Given the description of an element on the screen output the (x, y) to click on. 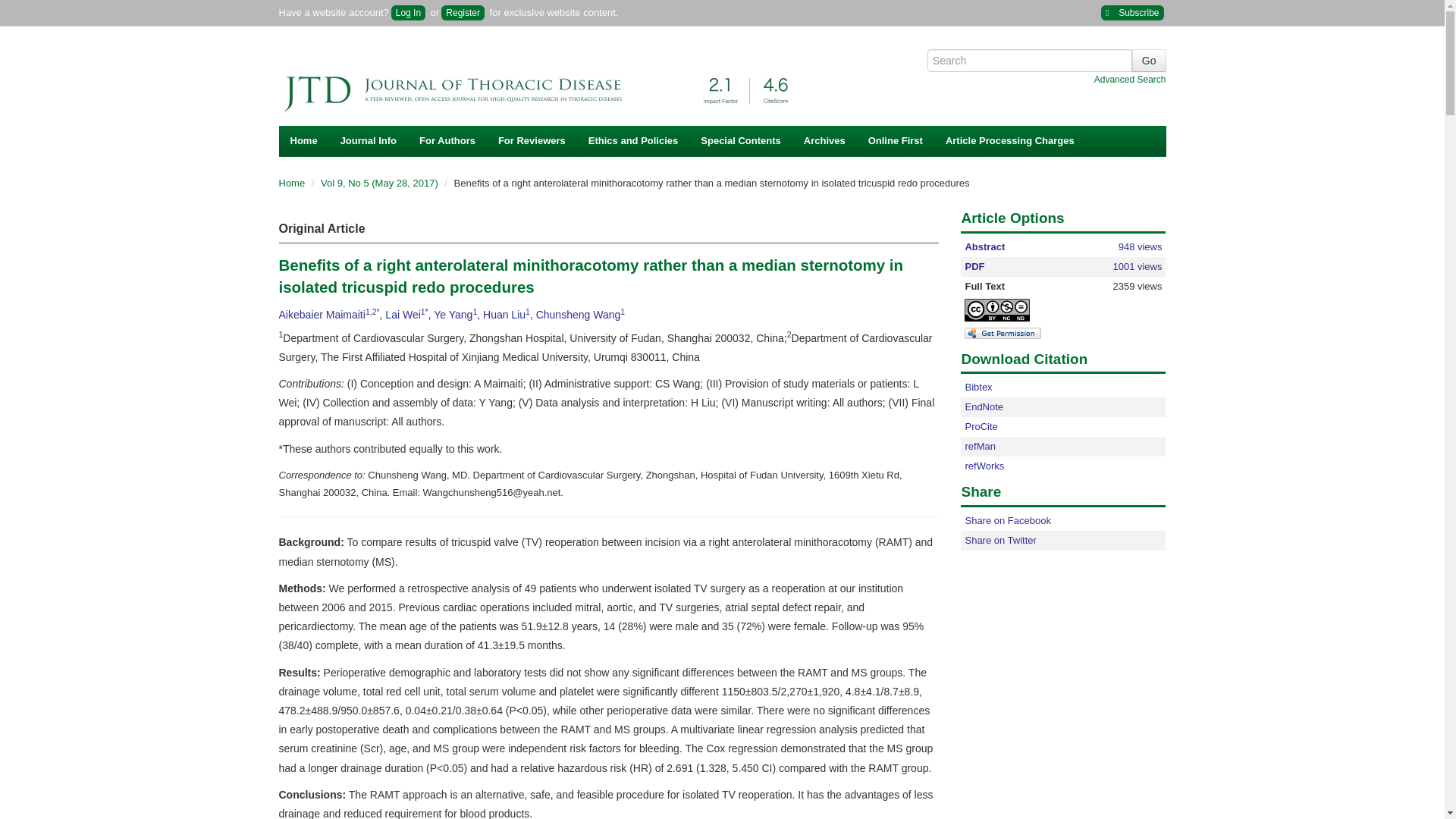
License (996, 309)
Subscribe (1131, 12)
Home (304, 141)
Go (1149, 60)
Register (462, 12)
Journal Info (368, 141)
Log In (408, 12)
 Subscribe (1131, 12)
For Reviewers (531, 141)
Go (1149, 60)
Journal of Thoracic Disease (544, 83)
For Authors (446, 141)
Advanced Search (1130, 79)
License (1009, 309)
Ethics and Policies (633, 141)
